Given the description of an element on the screen output the (x, y) to click on. 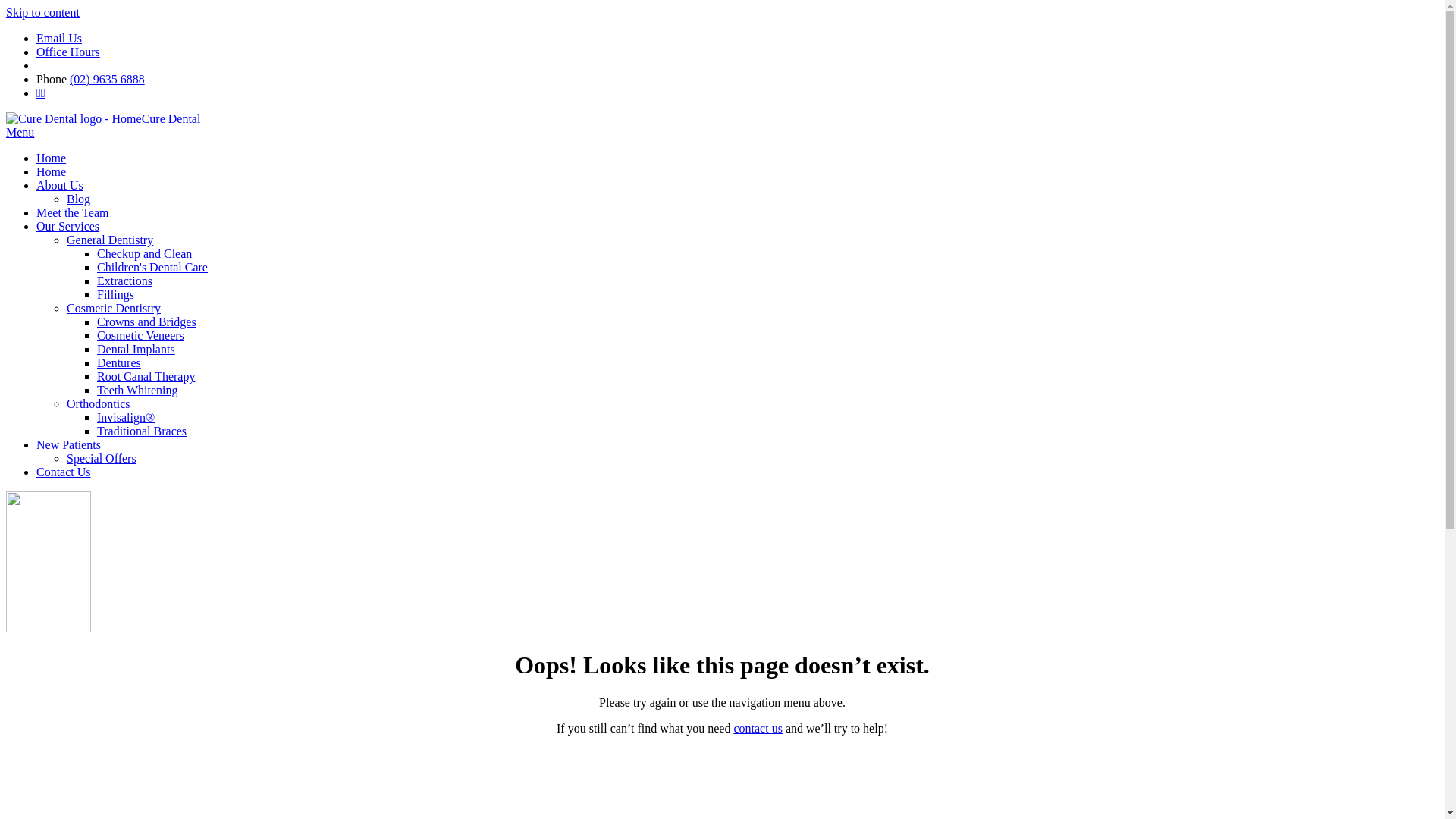
General Dentistry Element type: text (109, 239)
Dental Implants Element type: text (136, 348)
Meet the Team Element type: text (72, 212)
(02) 9635 6888 Element type: text (106, 78)
Home Element type: text (50, 157)
Crowns and Bridges Element type: text (146, 321)
facebook social button Element type: text (189, 65)
instagram social button Element type: text (300, 65)
Skip to content Element type: text (42, 12)
Office Hours Element type: text (68, 51)
Blog Element type: text (78, 198)
google social button Element type: text (85, 65)
Cosmetic Veneers Element type: text (140, 335)
Contact Us Element type: text (63, 471)
Cosmetic Dentistry Element type: text (113, 307)
Root Canal Therapy Element type: text (145, 376)
Fillings Element type: text (115, 294)
Traditional Braces Element type: text (141, 430)
Home Element type: text (50, 171)
Special Offers Element type: text (101, 457)
Children's Dental Care Element type: text (152, 266)
Orthodontics Element type: text (98, 403)
Cure Dental Element type: text (103, 118)
Extractions Element type: text (124, 280)
About Us Element type: text (59, 184)
Checkup and Clean Element type: text (144, 253)
Teeth Whitening Element type: text (137, 389)
Email Us Element type: text (58, 37)
Dentures Element type: text (119, 362)
New Patients Element type: text (68, 444)
Our Services Element type: text (67, 225)
contact us Element type: text (757, 727)
Menu Element type: text (20, 131)
